Given the description of an element on the screen output the (x, y) to click on. 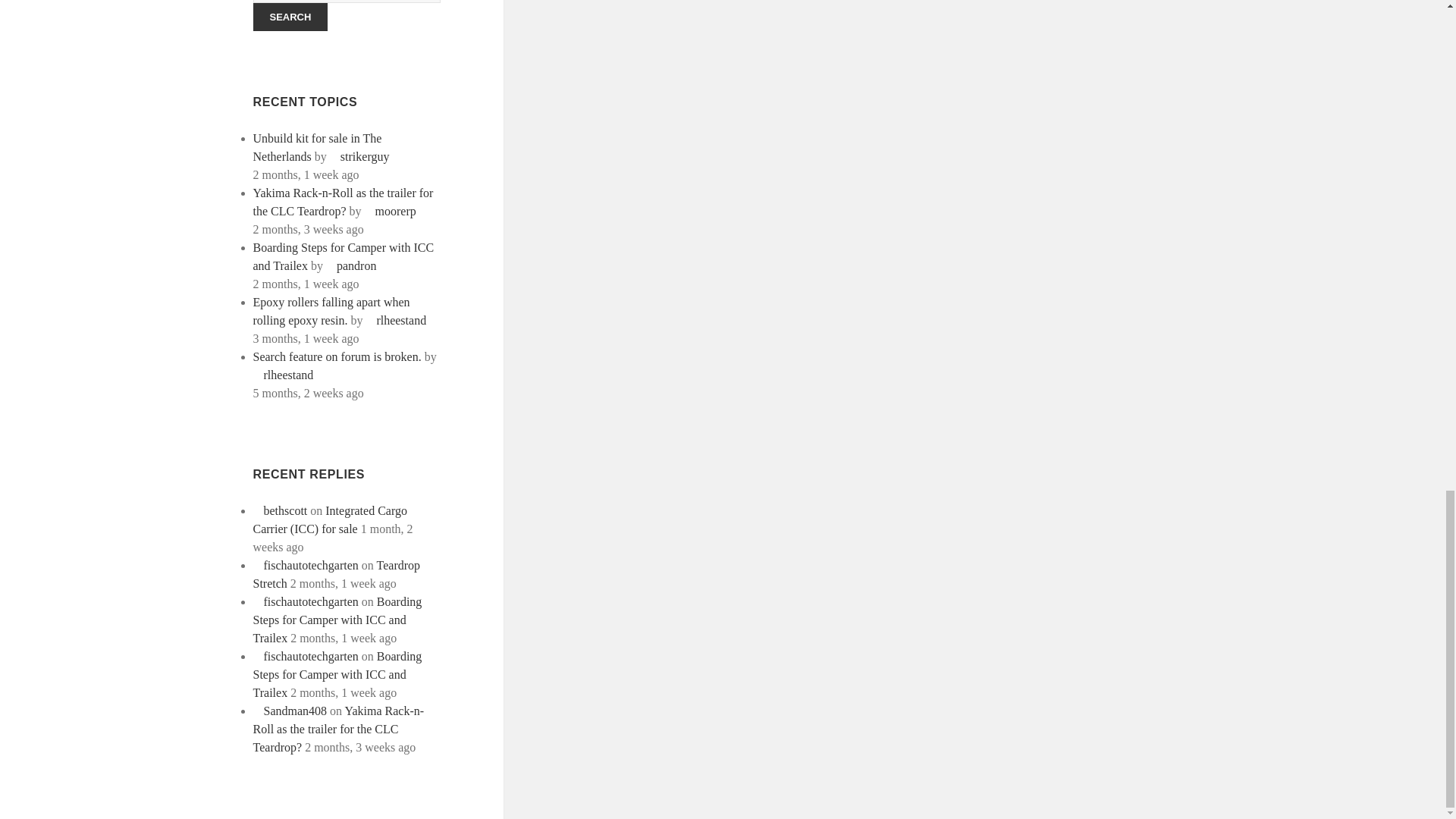
pandron (350, 265)
View fischautotechgarten's profile (305, 656)
Still available if anyone is interested. (330, 519)
View rlheestand's profile (283, 374)
View bethscott's profile (280, 510)
rlheestand (283, 374)
Boarding Steps for Camper with ICC and Trailex (337, 674)
bethscott (280, 510)
strikerguy (360, 155)
Search (291, 17)
